Given the description of an element on the screen output the (x, y) to click on. 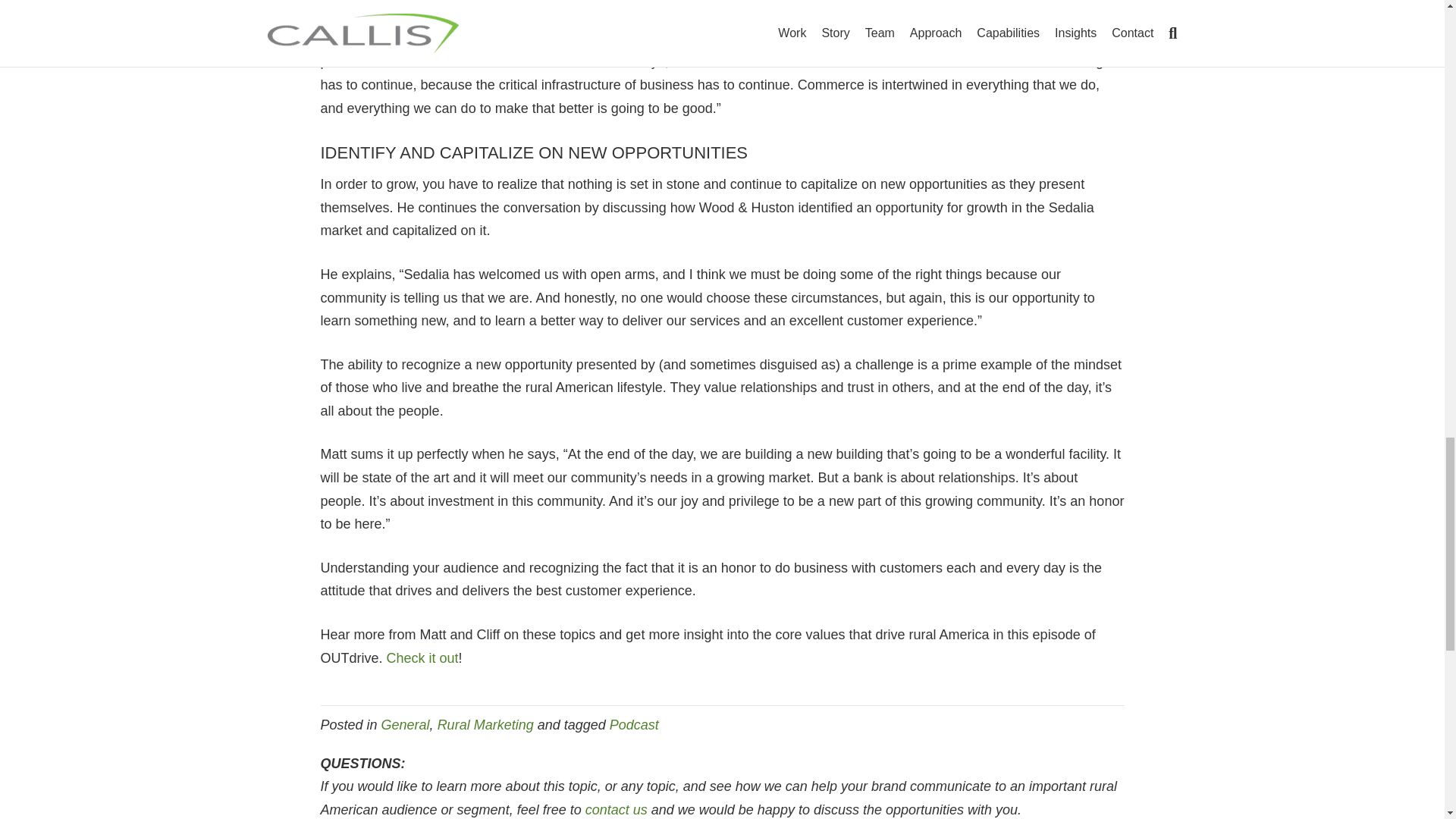
Podcast (634, 724)
General (405, 724)
Check it out (422, 657)
Rural Marketing (486, 724)
